Given the description of an element on the screen output the (x, y) to click on. 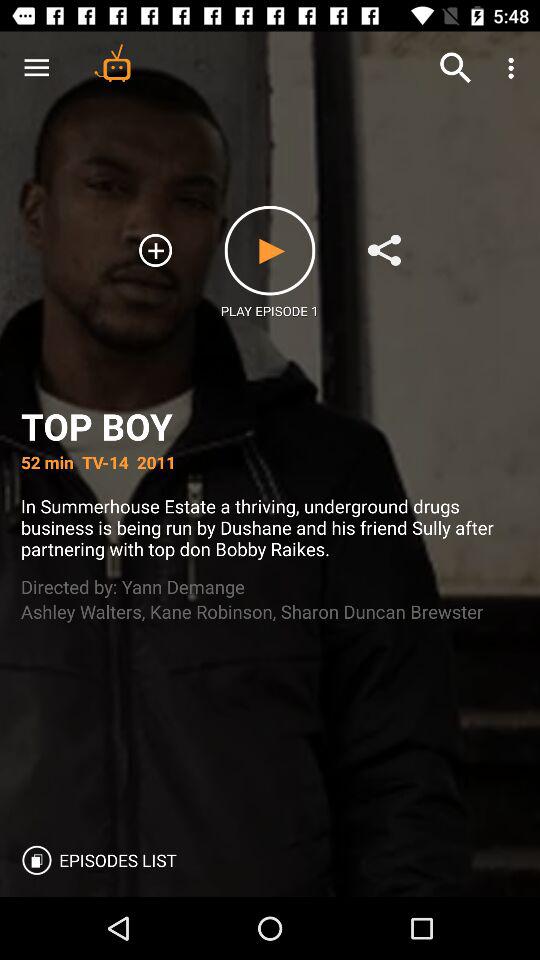
add to playlist (155, 250)
